Given the description of an element on the screen output the (x, y) to click on. 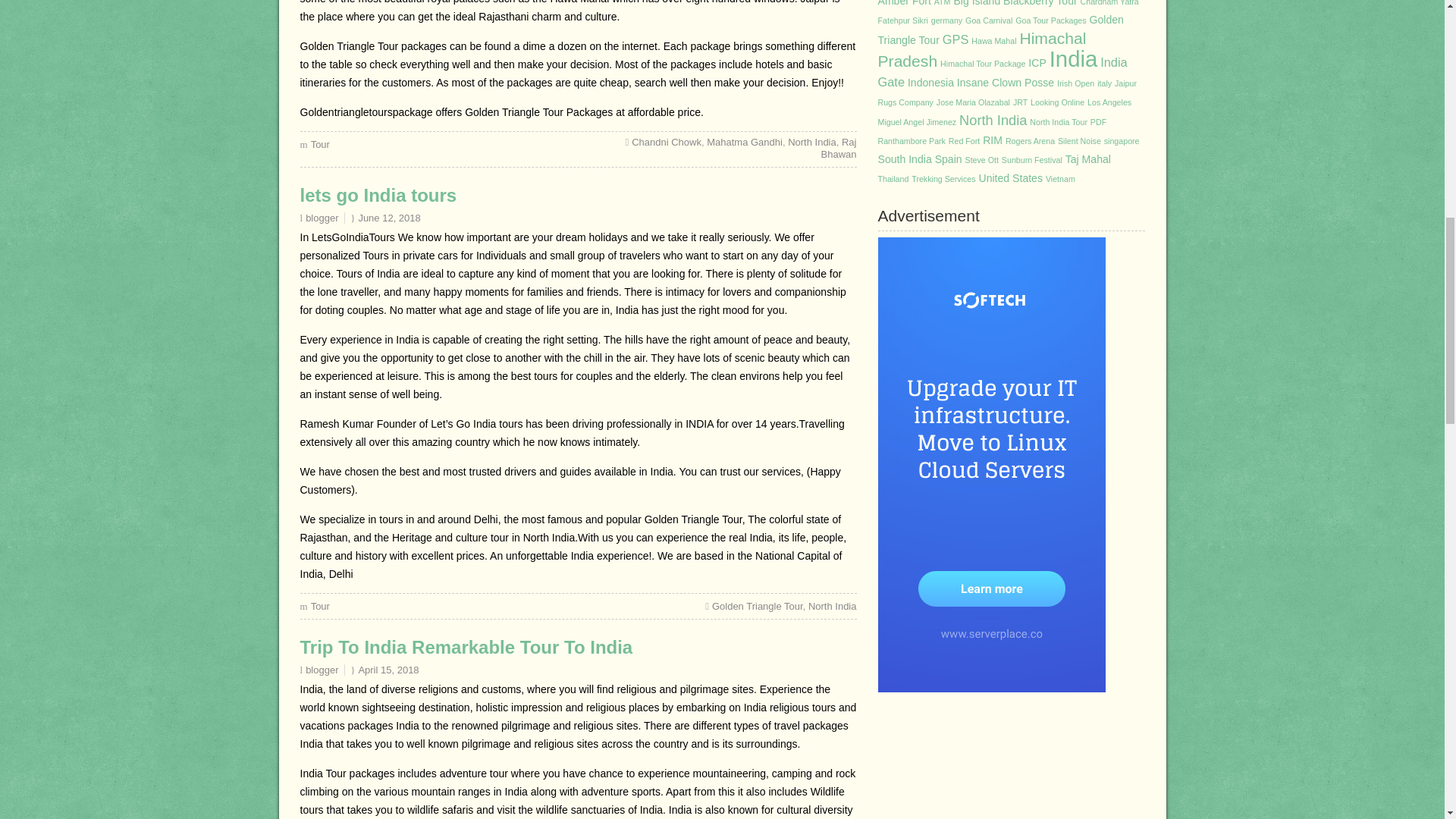
blogger (321, 669)
April 15, 2018 (388, 669)
North India (832, 605)
Posts by blogger (321, 669)
Raj Bhawan (838, 147)
Trip To India Remarkable Tour To India (466, 647)
Tour (320, 605)
Posts by blogger (321, 217)
Tour (320, 143)
Chandni Chowk (666, 142)
